Given the description of an element on the screen output the (x, y) to click on. 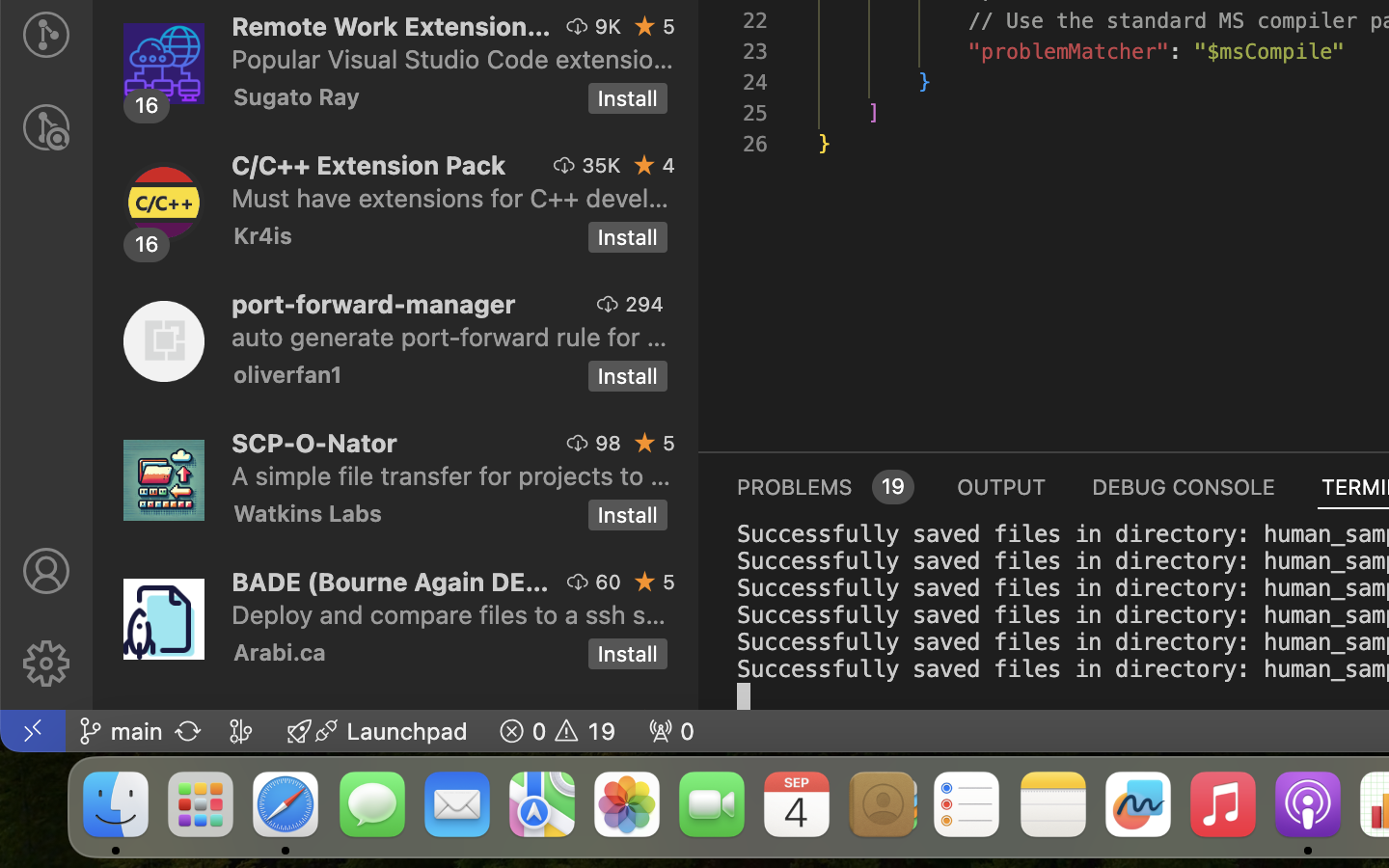
port-forward-manager Element type: AXStaticText (374, 303)
 Element type: AXStaticText (608, 303)
Popular Visual Studio Code extensions for Remote Work Element type: AXStaticText (453, 58)
BADE (Bourne Again DEploy) Element type: AXStaticText (390, 581)
9K Element type: AXStaticText (607, 25)
